Given the description of an element on the screen output the (x, y) to click on. 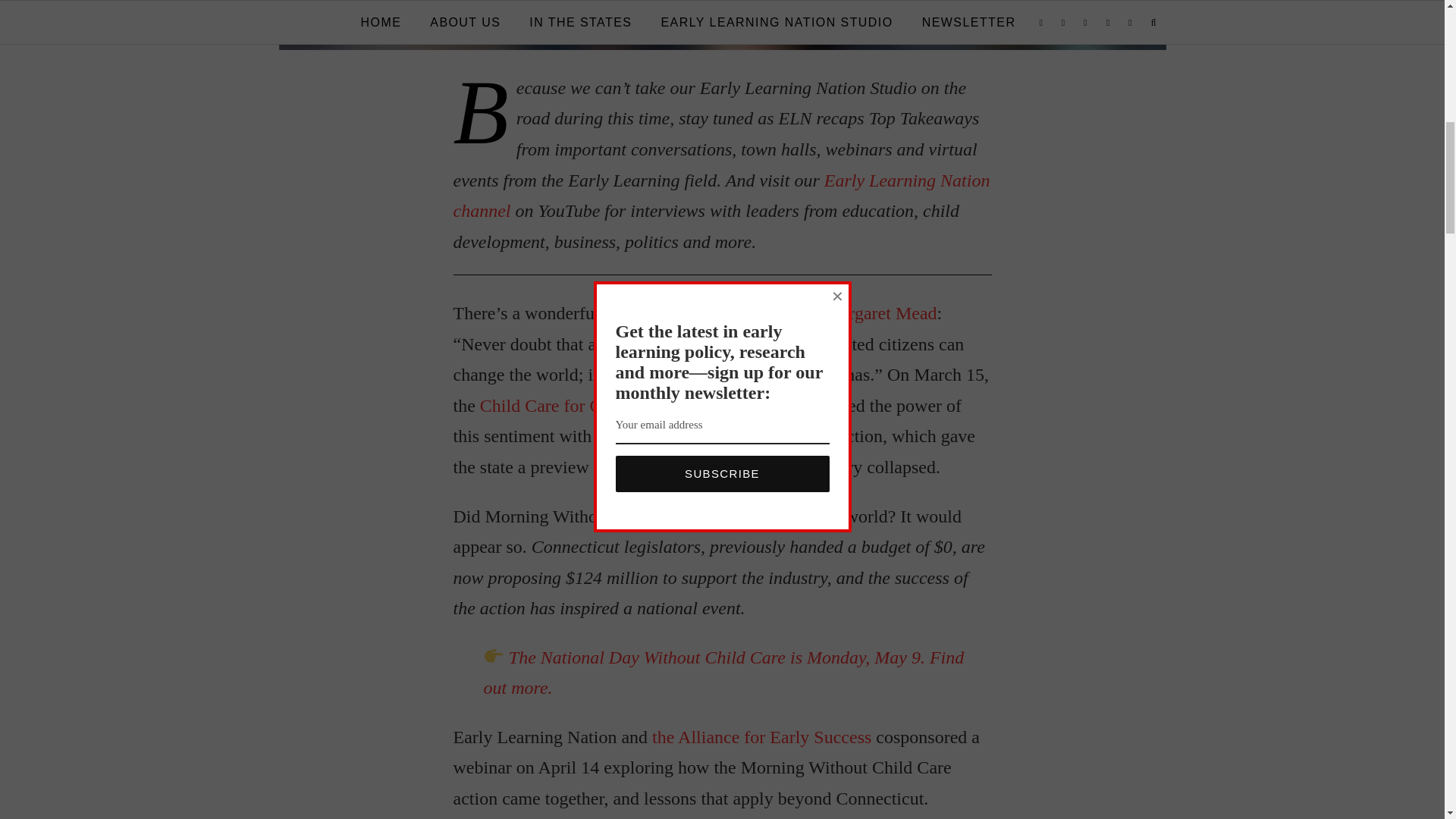
commonly attributed to Margaret Mead (792, 312)
the Alliance for Early Success (761, 736)
Early Learning Nation channel (721, 195)
